Given the description of an element on the screen output the (x, y) to click on. 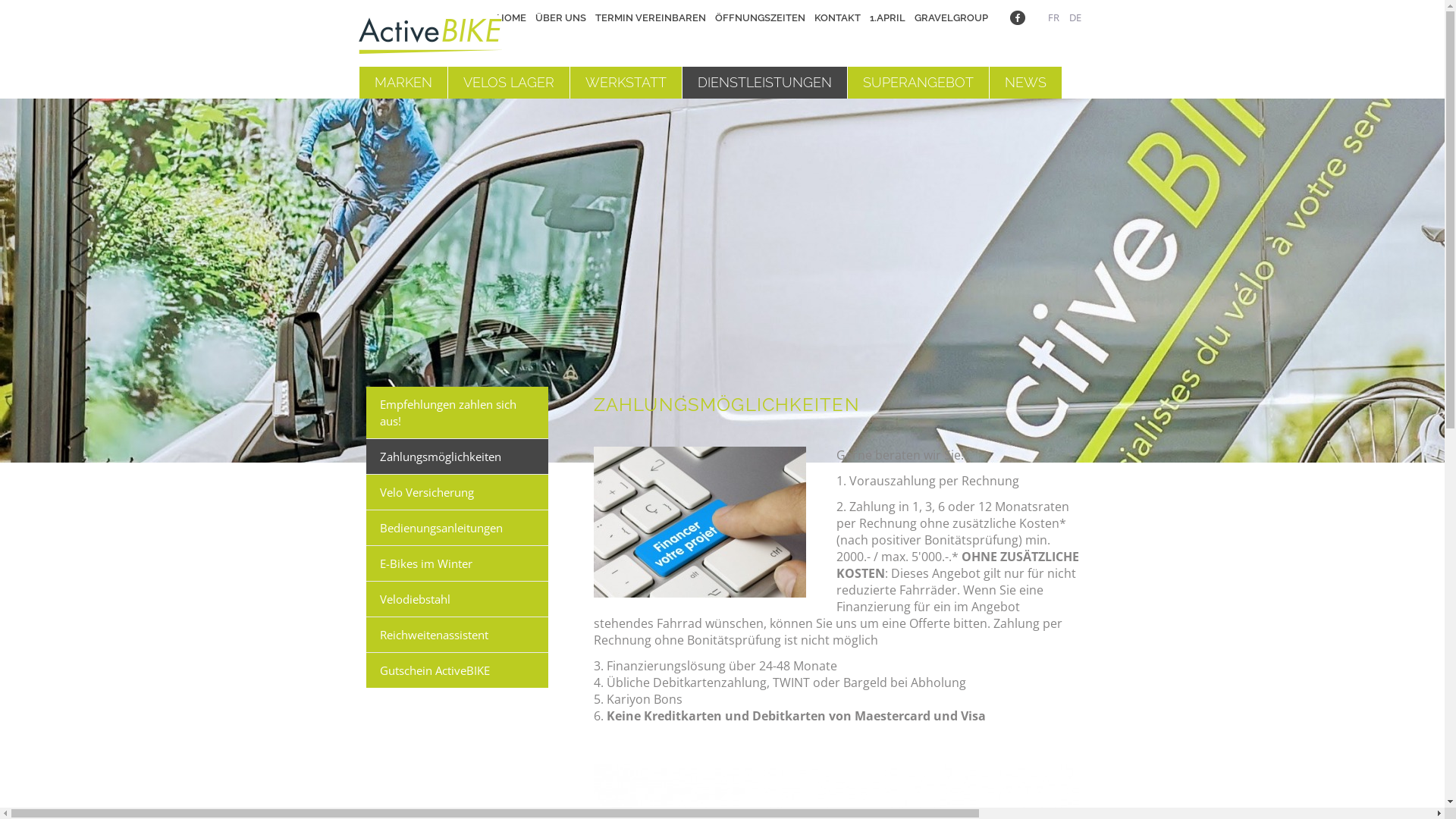
HOME Element type: text (506, 17)
1.APRIL Element type: text (882, 17)
MARKEN Element type: text (401, 82)
activebike.ch Element type: text (429, 41)
TERMIN VEREINBAREN Element type: text (645, 17)
GRAVELGROUP Element type: text (947, 17)
Bedienungsanleitungen Element type: text (456, 527)
Empfehlungen zahlen sich aus! Element type: text (456, 412)
VELOS LAGER Element type: text (508, 82)
DIENSTLEISTUNGEN Element type: text (763, 82)
DE Element type: text (1075, 17)
Gutschein ActiveBIKE Element type: text (456, 669)
KONTAKT Element type: text (833, 17)
WERKSTATT Element type: text (624, 82)
FR Element type: text (1054, 17)
Reichweitenassistent Element type: text (456, 634)
SUPERANGEBOT Element type: text (917, 82)
Velo Versicherung Element type: text (456, 491)
E-Bikes im Winter Element type: text (456, 563)
NEWS Element type: text (1024, 82)
Velodiebstahl Element type: text (456, 598)
